Given the description of an element on the screen output the (x, y) to click on. 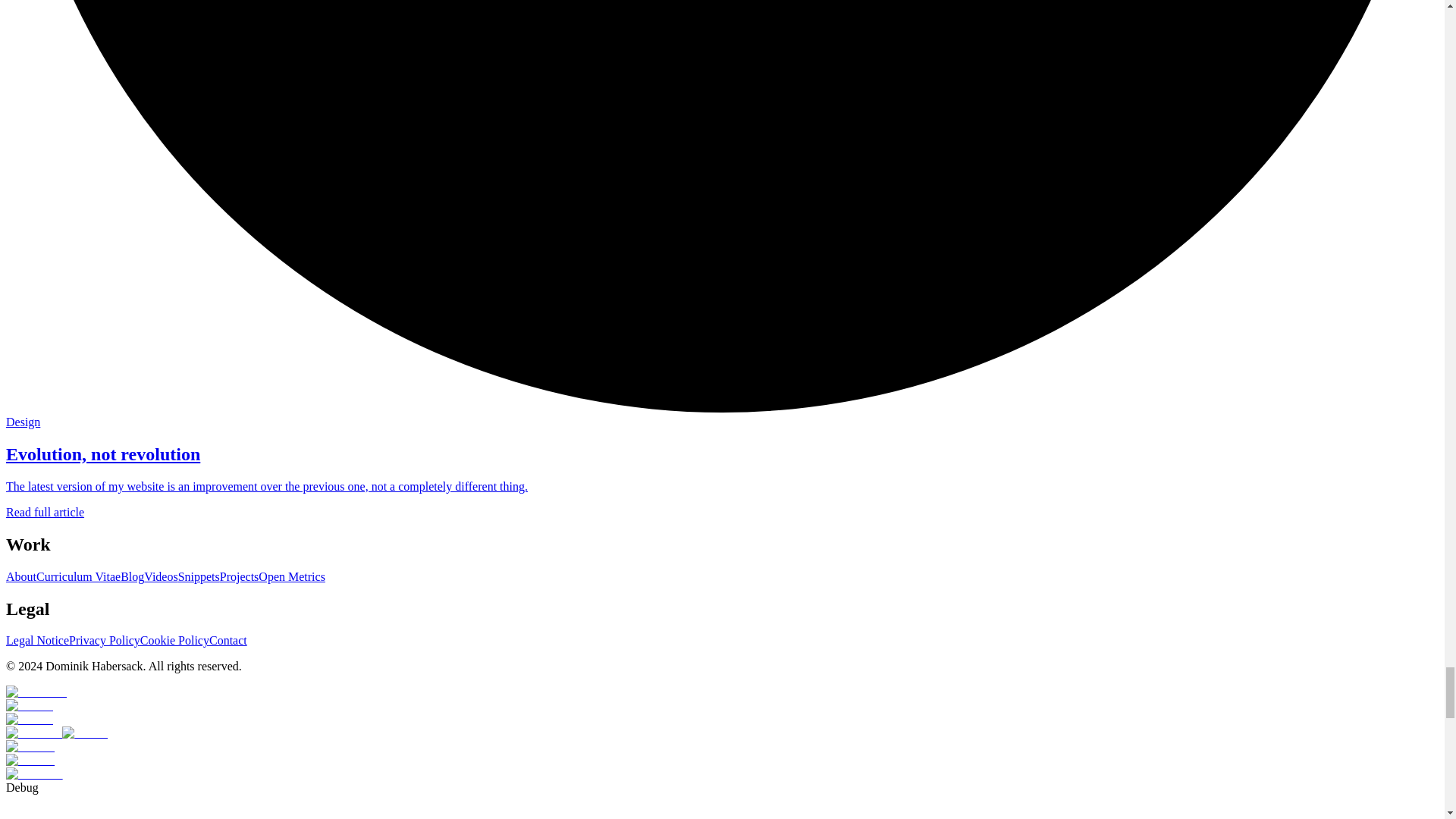
Projects (239, 576)
Curriculum Vitae (78, 576)
domhabersack on Twitch (84, 733)
Legal Notice (36, 640)
Privacy Policy (103, 640)
Dom Habersack on LinkedIn (33, 774)
Videos (160, 576)
Open Metrics (291, 576)
domhabersack on GitHub (30, 760)
Contact (228, 640)
Dom Habersack on YouTube (33, 732)
Dom Habersack on YouTube (33, 733)
Blog (132, 576)
domhabersack on GitHub (30, 746)
Snippets (198, 576)
